Given the description of an element on the screen output the (x, y) to click on. 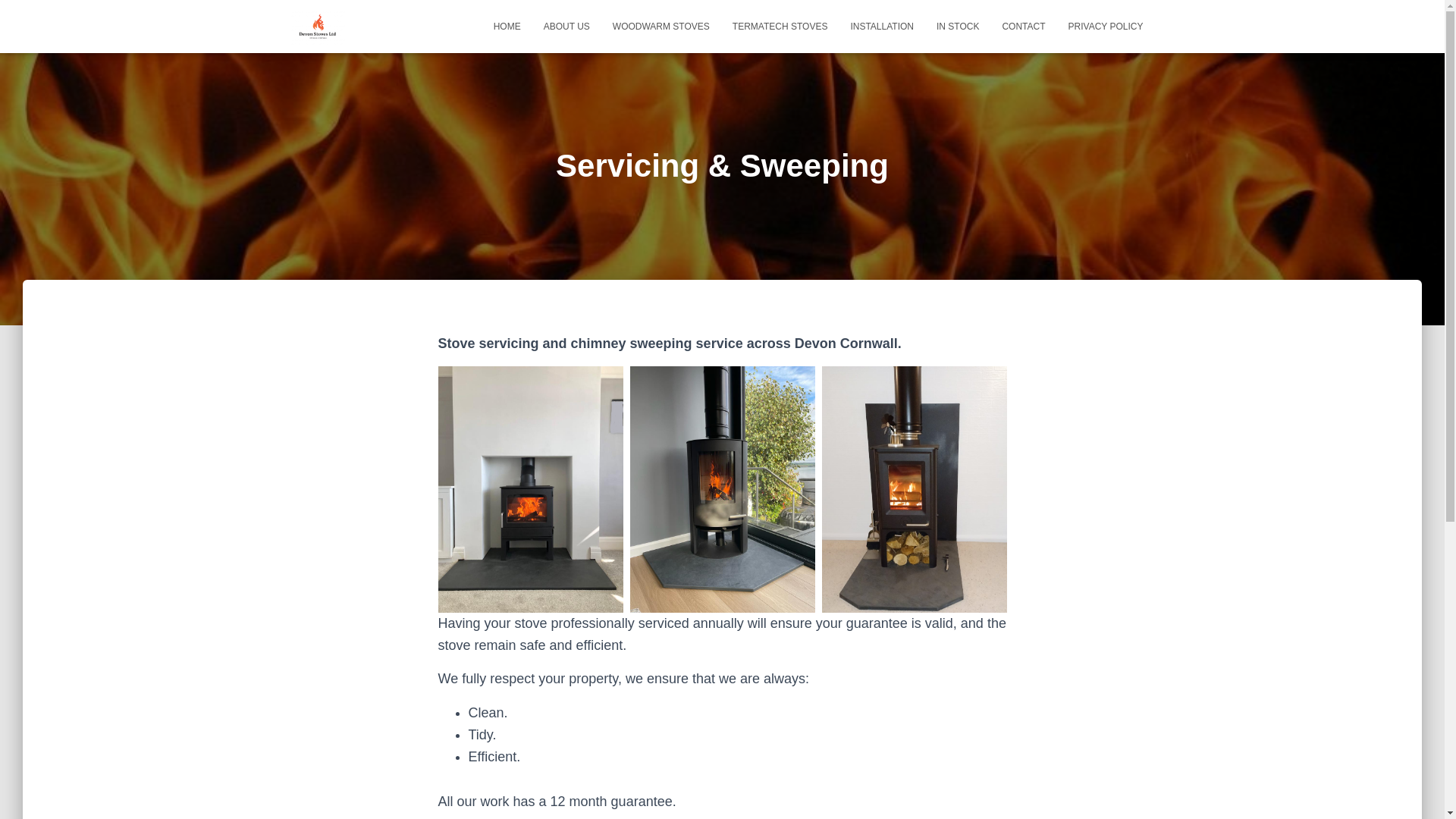
Devon Stoves (318, 26)
Home (506, 26)
About Us (566, 26)
WOODWARM STOVES (660, 26)
ABOUT US (566, 26)
In Stock (957, 26)
INSTALLATION (881, 26)
HOME (506, 26)
TermaTech Stoves (780, 26)
IN STOCK (957, 26)
